Given the description of an element on the screen output the (x, y) to click on. 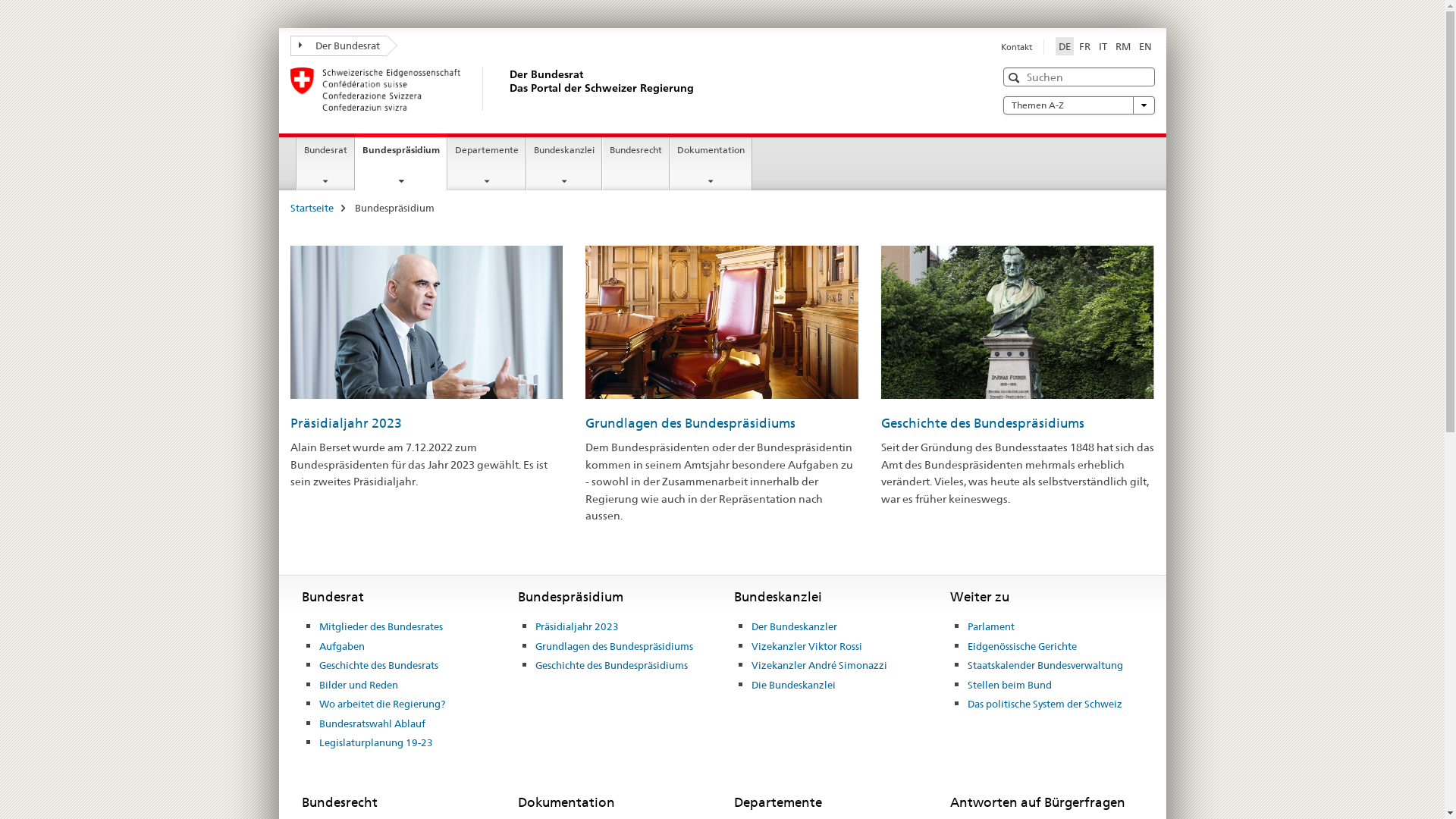
Geschichte des Bundesrats Element type: text (378, 665)
DE Element type: text (1064, 46)
Der Bundesrat
Das Portal der Schweizer Regierung Element type: text (505, 88)
Stellen beim Bund Element type: text (1009, 685)
Bundesrat Element type: text (325, 163)
Das politische System der Schweiz Element type: text (1044, 704)
Der Bundeskanzler Element type: text (794, 627)
Mitglieder des Bundesrates Element type: text (380, 627)
Bundeskanzlei Element type: text (564, 163)
Departemente Element type: text (486, 163)
Die Bundeskanzlei Element type: text (793, 685)
Vizekanzler Viktor Rossi Element type: text (806, 646)
Dokumentation Element type: text (710, 163)
Bilder und Reden Element type: text (358, 685)
EN Element type: text (1144, 46)
Startseite Element type: text (310, 207)
FR Element type: text (1083, 46)
Themen A-Z Element type: text (1078, 105)
RM Element type: text (1121, 46)
Wo arbeitet die Regierung? Element type: text (382, 704)
Legislaturplanung 19-23 Element type: text (376, 743)
Bundesratswahl Ablauf Element type: text (372, 724)
Parlament Element type: text (990, 627)
IT Element type: text (1102, 46)
Staatskalender Bundesverwaltung Element type: text (1045, 665)
Der Bundesrat Element type: text (338, 45)
Aufgaben Element type: text (341, 646)
Bundesrecht Element type: text (635, 163)
Kontakt Element type: text (1016, 46)
Suche Element type: text (1015, 77)
